Given the description of an element on the screen output the (x, y) to click on. 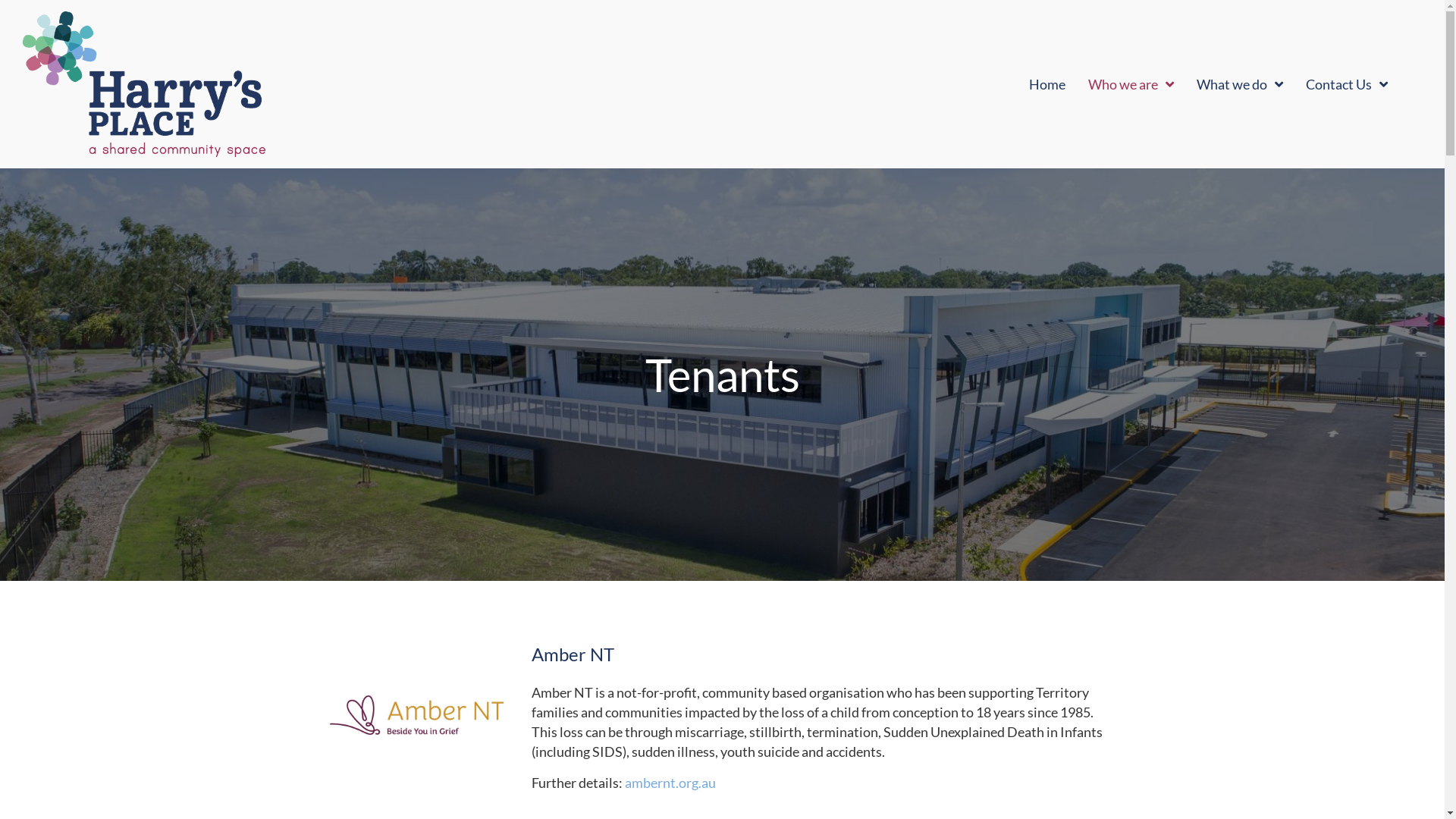
logo Element type: hover (143, 83)
ambernt.org.au Element type: text (669, 782)
Contact Us Element type: text (1346, 83)
Home Element type: text (1047, 83)
What we do Element type: text (1239, 83)
Who we are Element type: text (1130, 83)
